Given the description of an element on the screen output the (x, y) to click on. 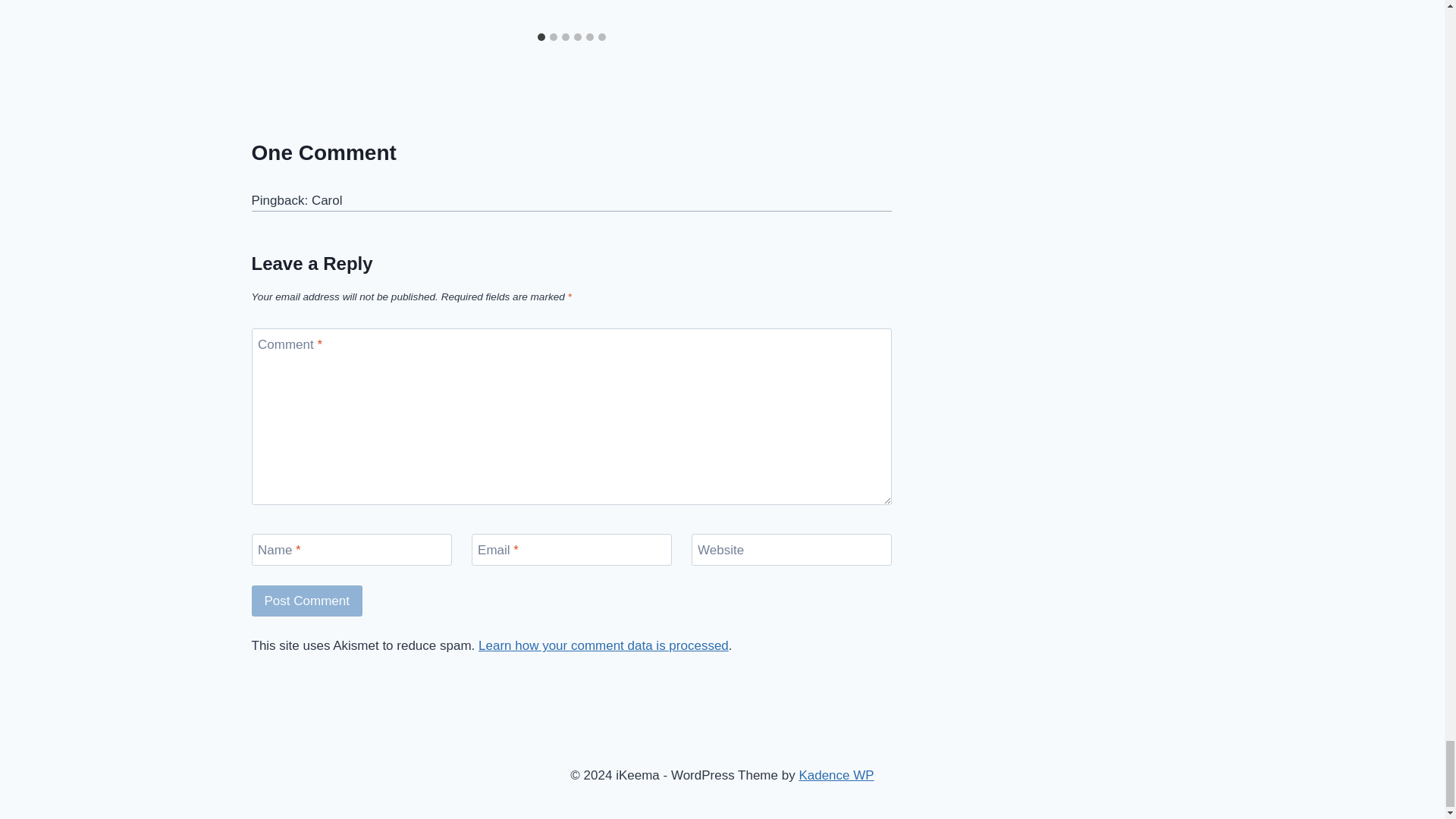
Post Comment (306, 600)
